Given the description of an element on the screen output the (x, y) to click on. 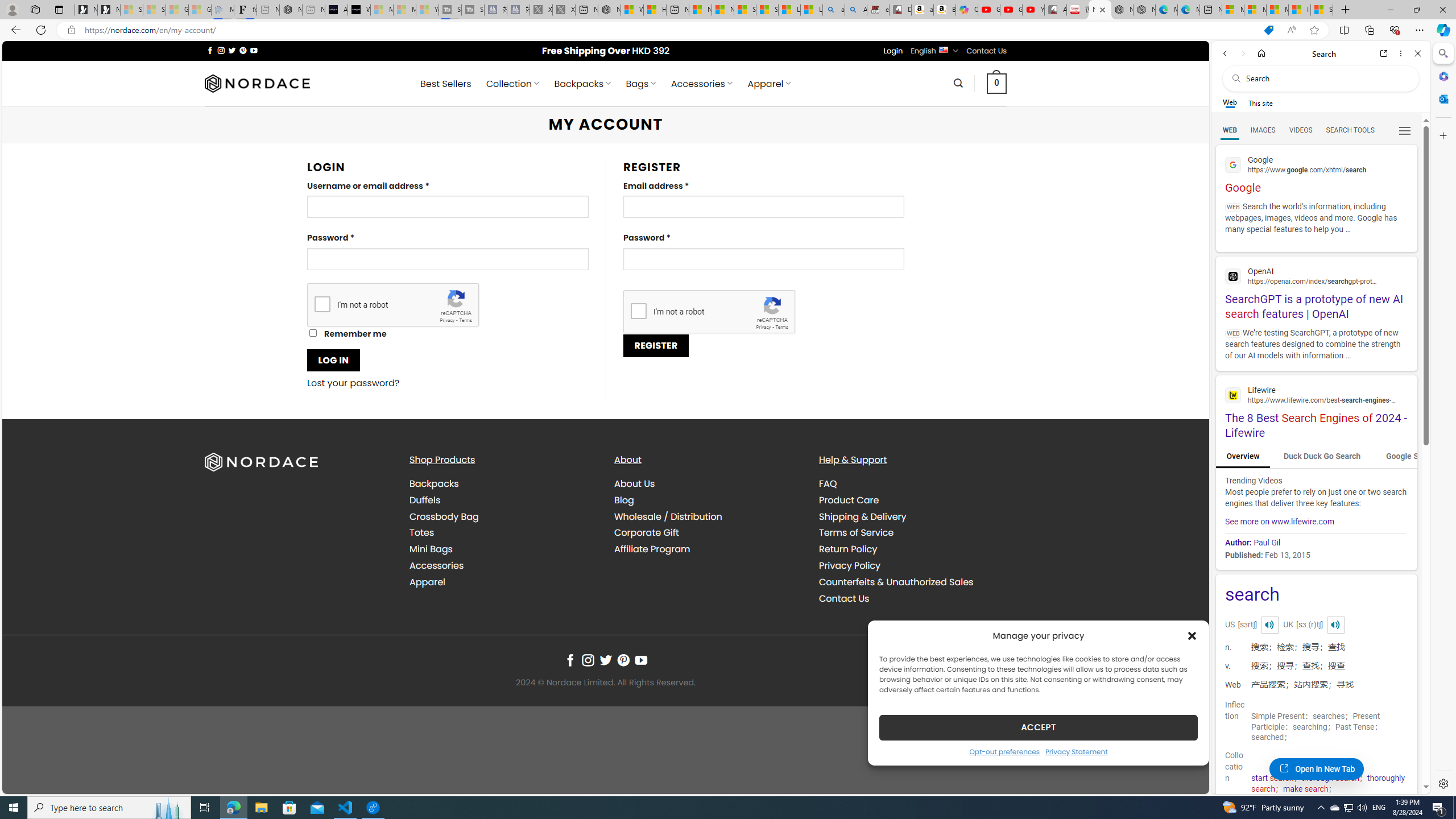
Settings (1442, 783)
FAQ (827, 483)
Follow on Pinterest (622, 659)
thoroughly search (1327, 783)
Backpacks (502, 483)
Contact Us (912, 598)
Newsletter Sign Up (109, 9)
Copilot (966, 9)
All Cubot phones (1055, 9)
Microsoft account | Privacy (1255, 9)
Mini Bags (430, 549)
Totes (421, 532)
